Given the description of an element on the screen output the (x, y) to click on. 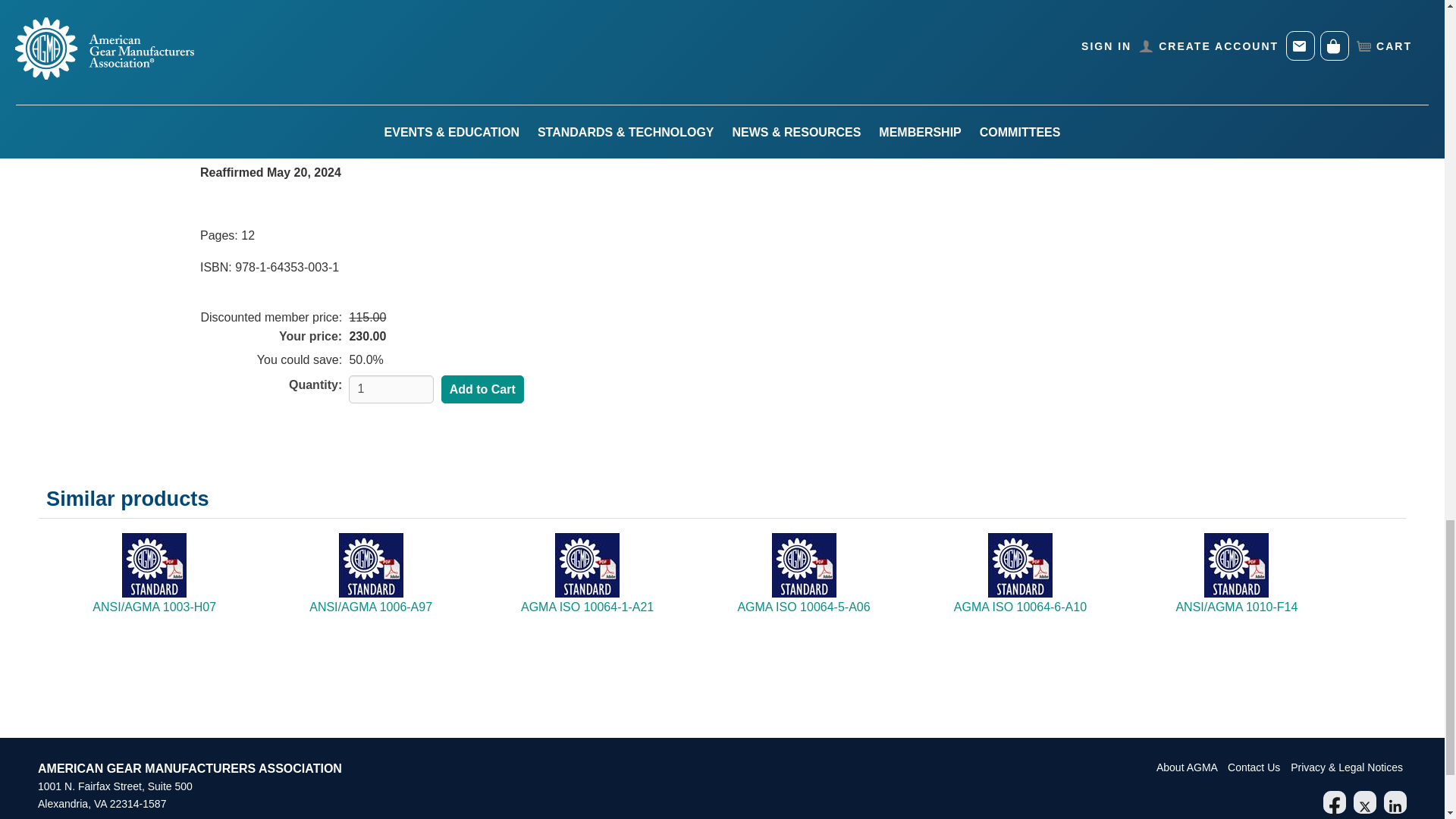
1 (391, 389)
Add to Cart (482, 389)
AGMA ISO 10064-5-A06 (802, 607)
AGMA ISO 10064-5-A06 (802, 607)
About AGMA (1188, 767)
AGMA ISO 10064-1-A21 (587, 607)
AMERICAN GEAR MANUFACTURERS ASSOCIATION (189, 768)
AGMA ISO 10064-6-A10 (1019, 607)
Add to Cart (482, 389)
AGMA ISO 10064-6-A10 (1019, 607)
AGMA ISO 10064-1-A21 (587, 607)
Contact Us (1254, 767)
